Given the description of an element on the screen output the (x, y) to click on. 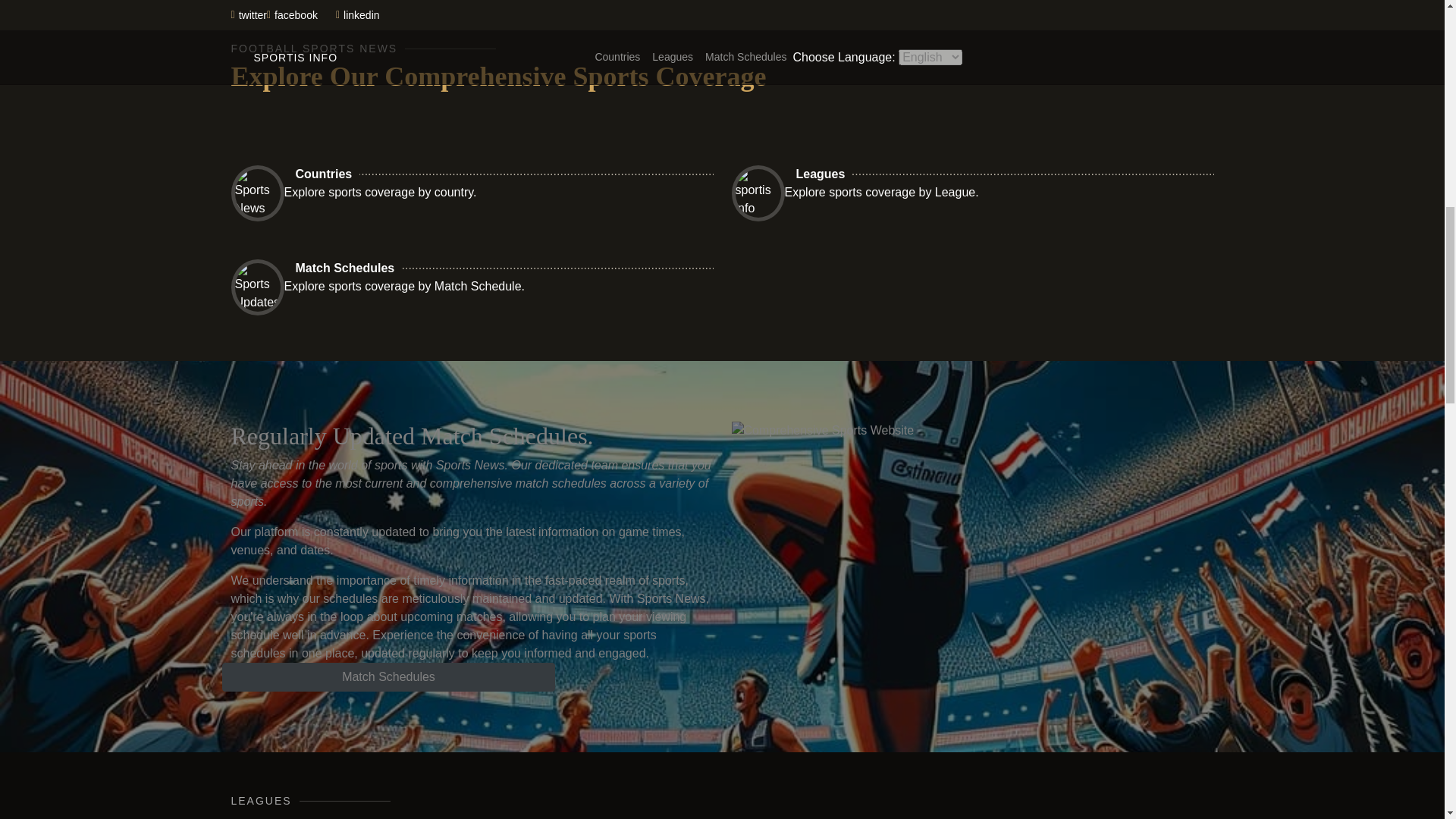
Match Schedules (387, 676)
Leagues (824, 174)
Sports News (256, 193)
Comprehensive Sports Website (888, 430)
Sports Updates (256, 287)
Countries (327, 174)
Match Schedules (349, 268)
sportis info (757, 193)
Match Schedules (387, 676)
Countries (327, 174)
Leagues (824, 174)
Match Schedules (349, 268)
